Given the description of an element on the screen output the (x, y) to click on. 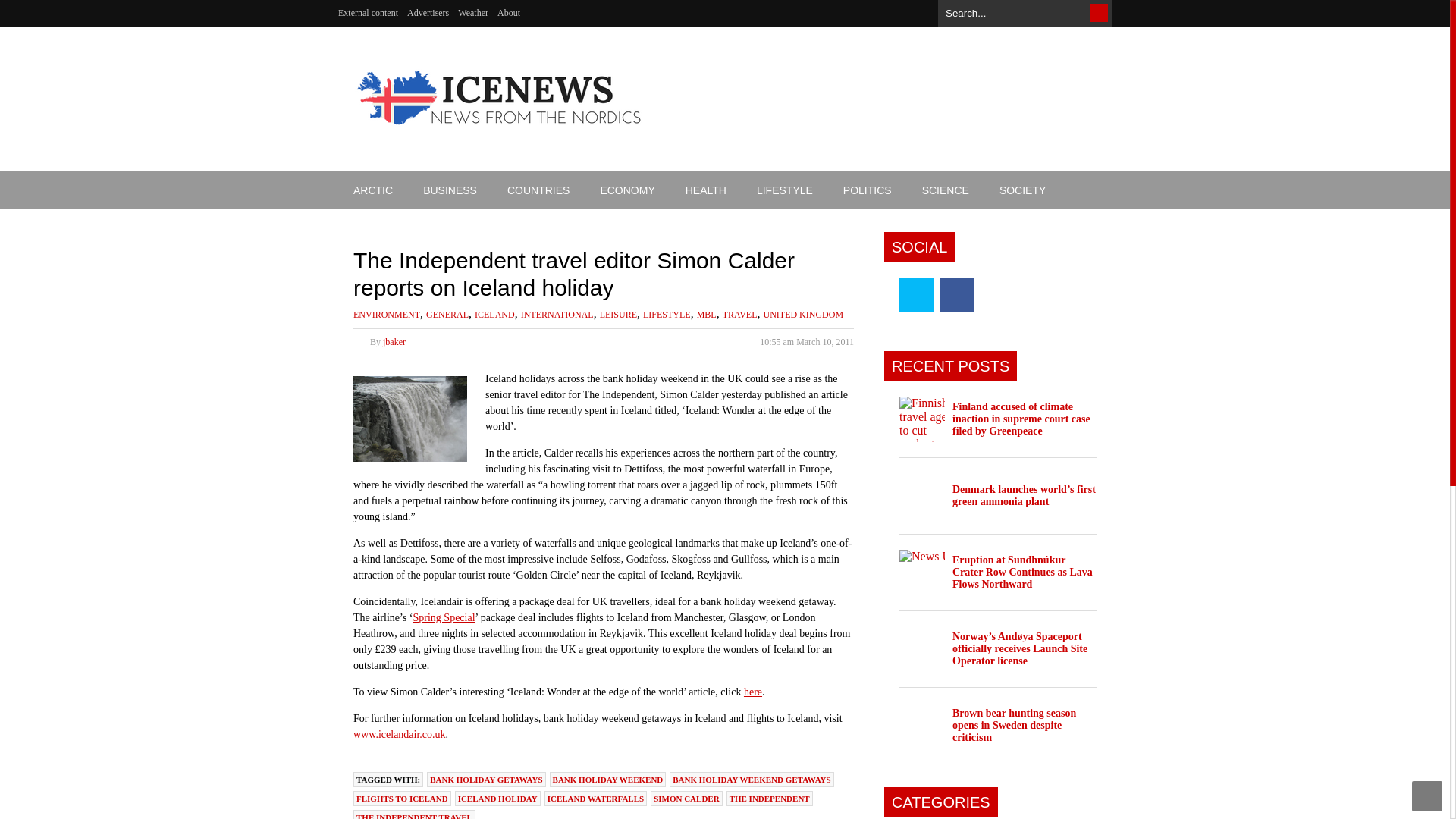
View all posts in Lifestyle (666, 314)
COUNTRIES (538, 190)
View all posts in MBL (706, 314)
View all posts in General (447, 314)
Zoom out post body text (827, 317)
External content (367, 13)
Posts by jbaker (394, 341)
Zoom in post body text (848, 317)
Advertisers (427, 13)
POLITICS (867, 190)
